Given the description of an element on the screen output the (x, y) to click on. 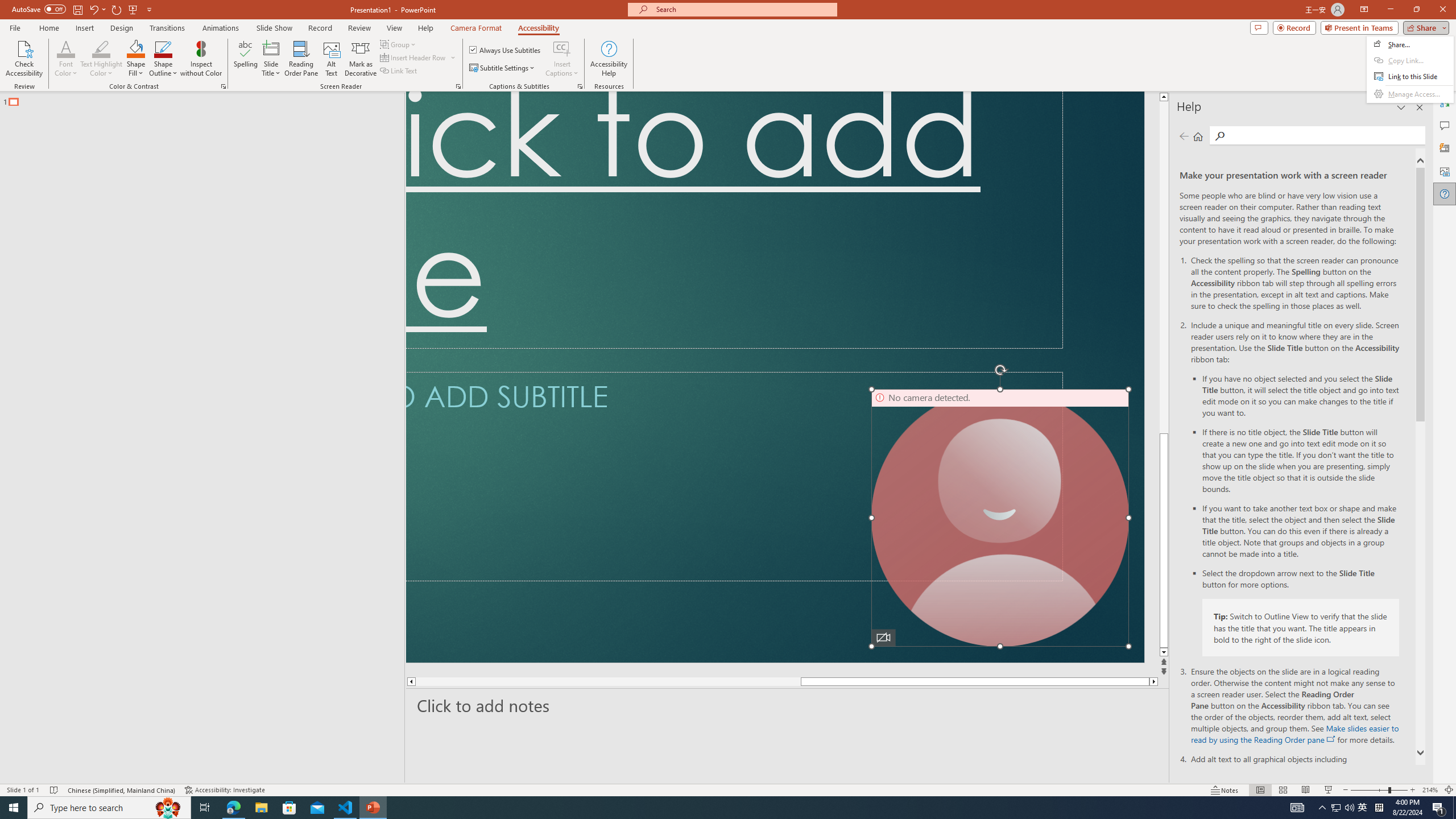
openinnewwindow (1330, 739)
Subtitle Settings (502, 67)
